Given the description of an element on the screen output the (x, y) to click on. 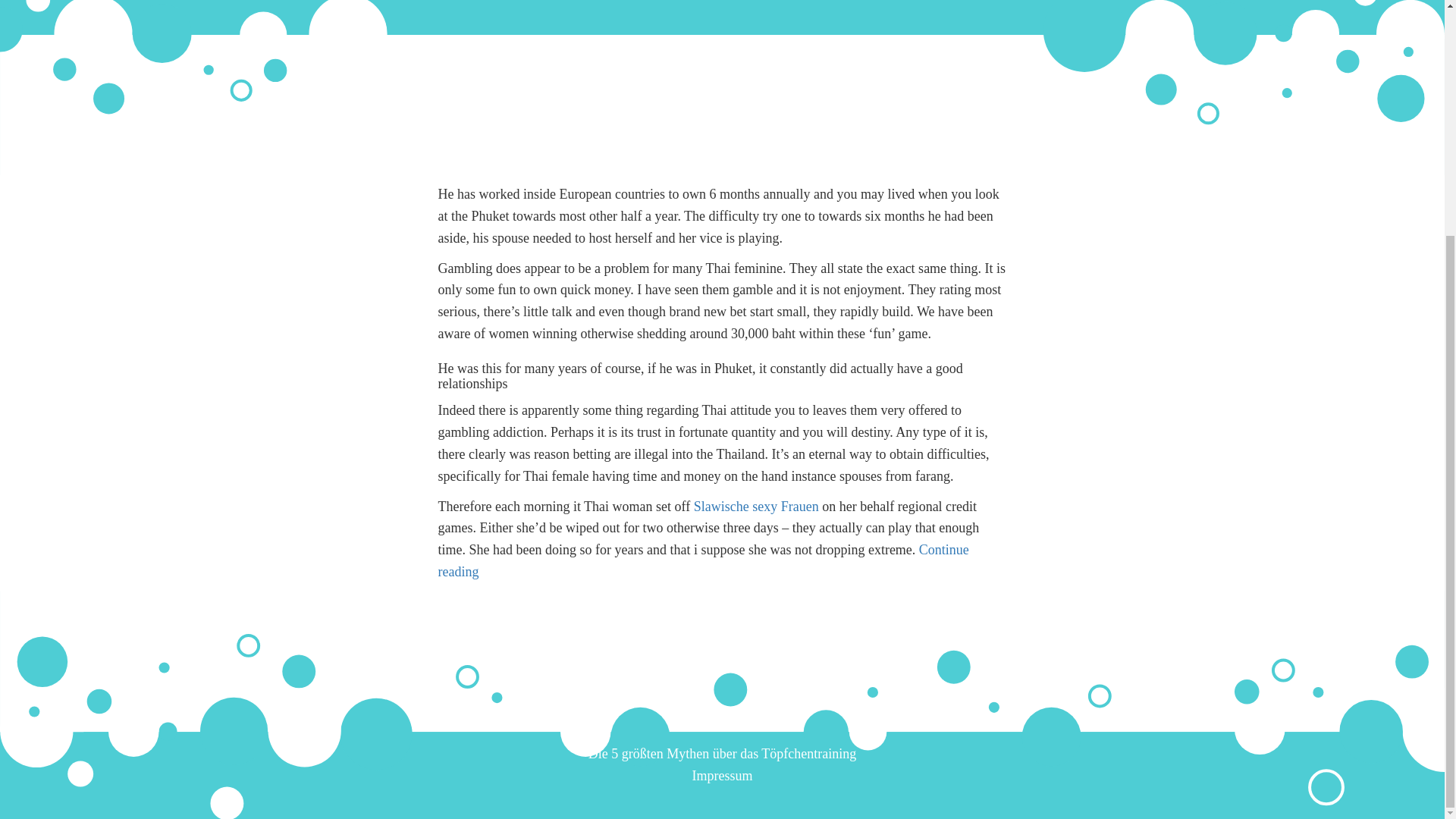
Impressum (721, 775)
Slawische sexy Frauen (756, 506)
Continue reading (703, 560)
